Given the description of an element on the screen output the (x, y) to click on. 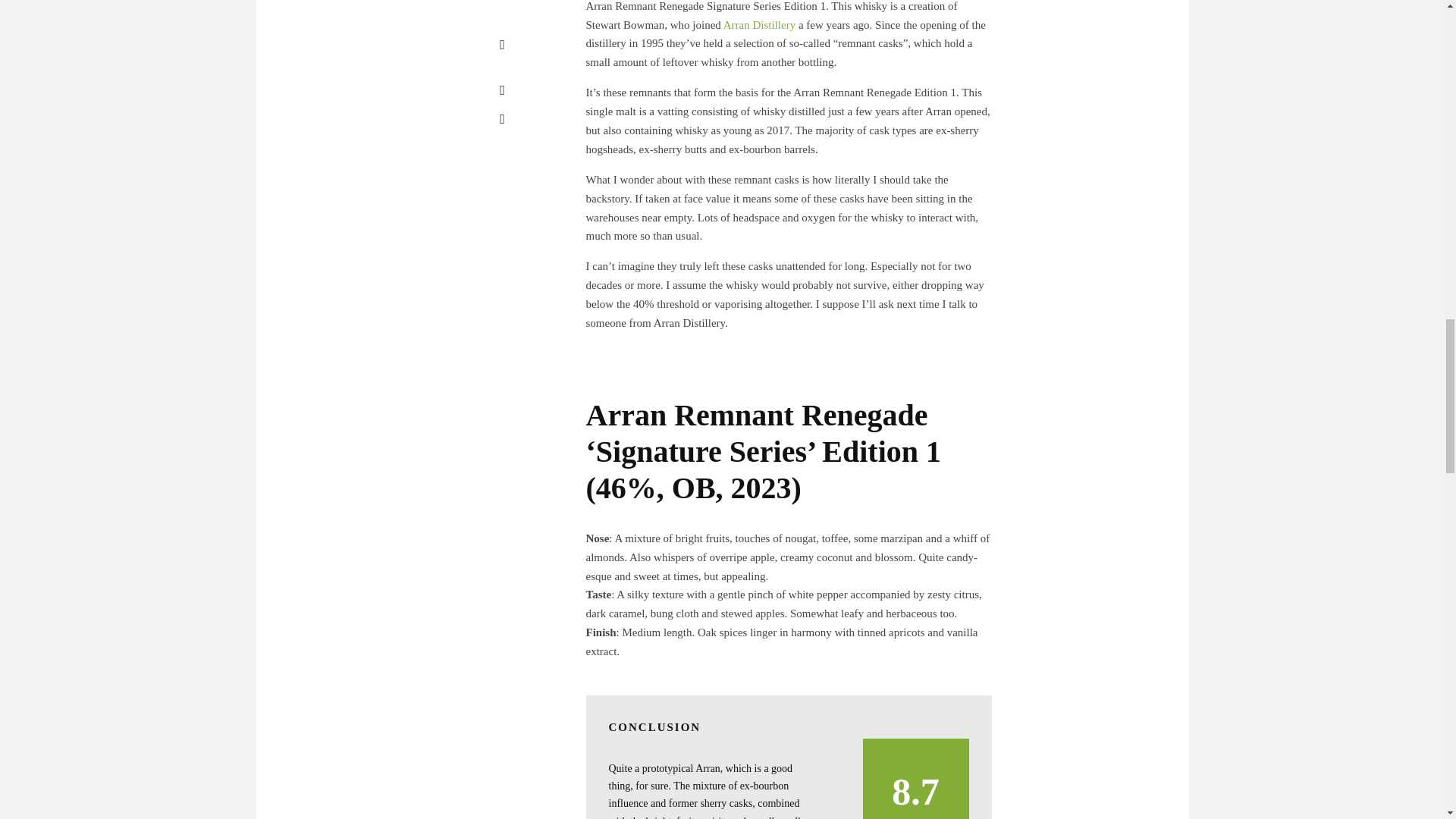
Arran Distillery (758, 24)
